Given the description of an element on the screen output the (x, y) to click on. 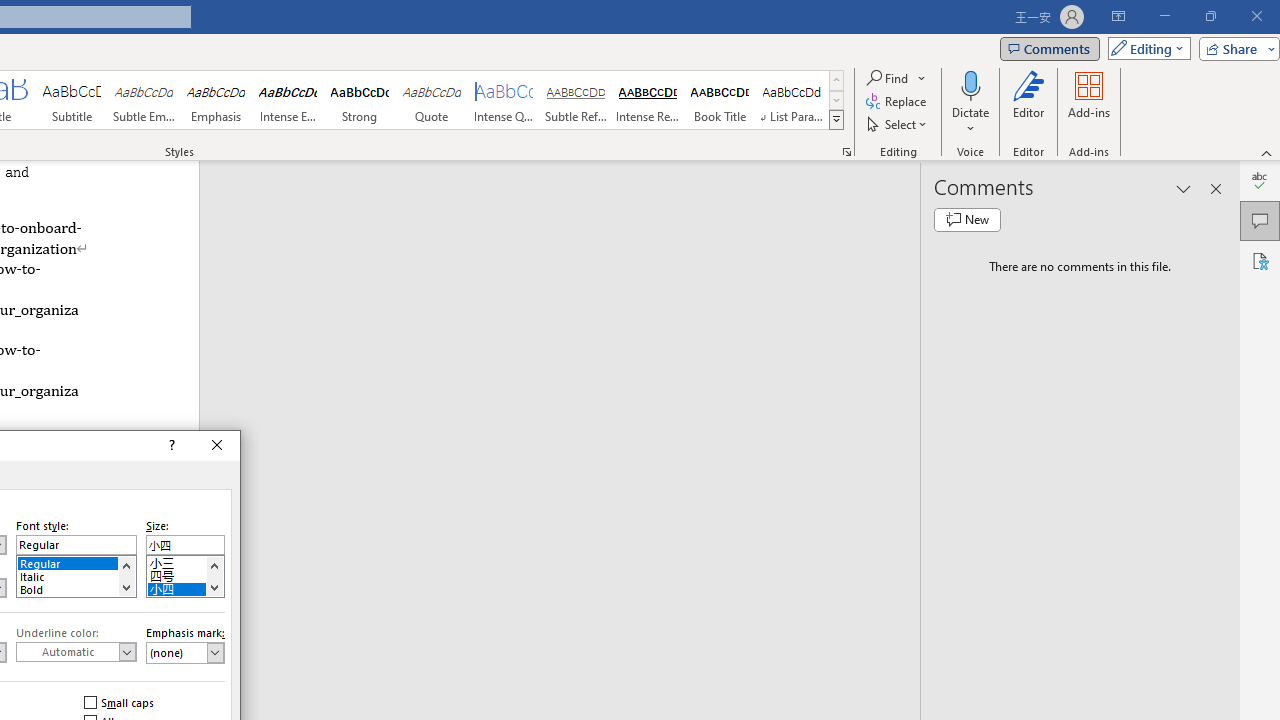
Styles... (846, 151)
Subtle Emphasis (143, 100)
Editor (1260, 180)
Line down (214, 587)
Minimize (1164, 16)
Restore Down (1210, 16)
Intense Emphasis (287, 100)
Dictate (970, 84)
Close (217, 445)
Strong (359, 100)
Subtle Reference (575, 100)
